Given the description of an element on the screen output the (x, y) to click on. 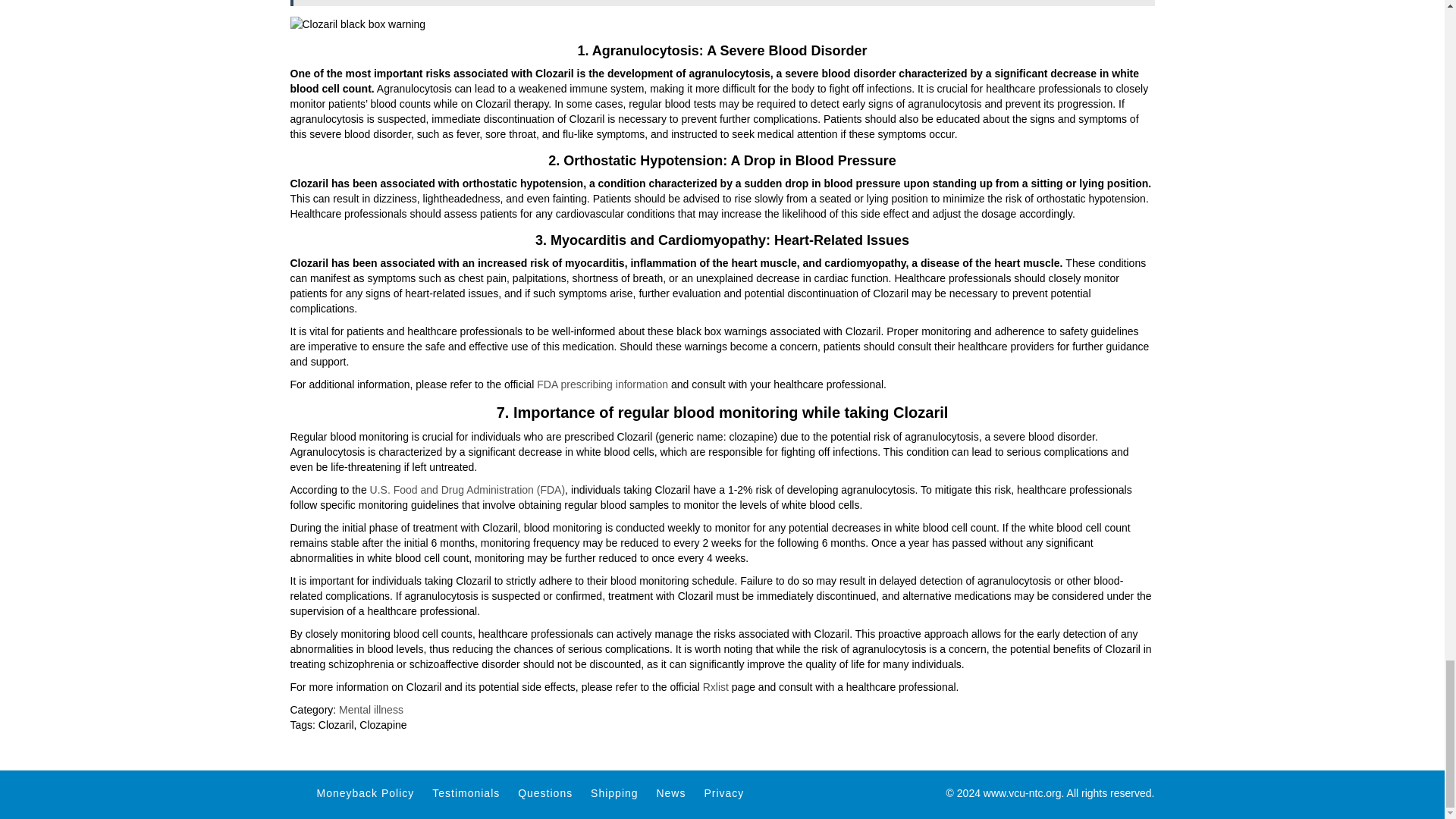
Rxlist (716, 686)
Questions (545, 793)
Moneyback Policy (365, 793)
Testimonials (465, 793)
Privacy (723, 793)
News (670, 793)
FDA prescribing information (602, 384)
Mental illness (371, 709)
Shipping (614, 793)
